Given the description of an element on the screen output the (x, y) to click on. 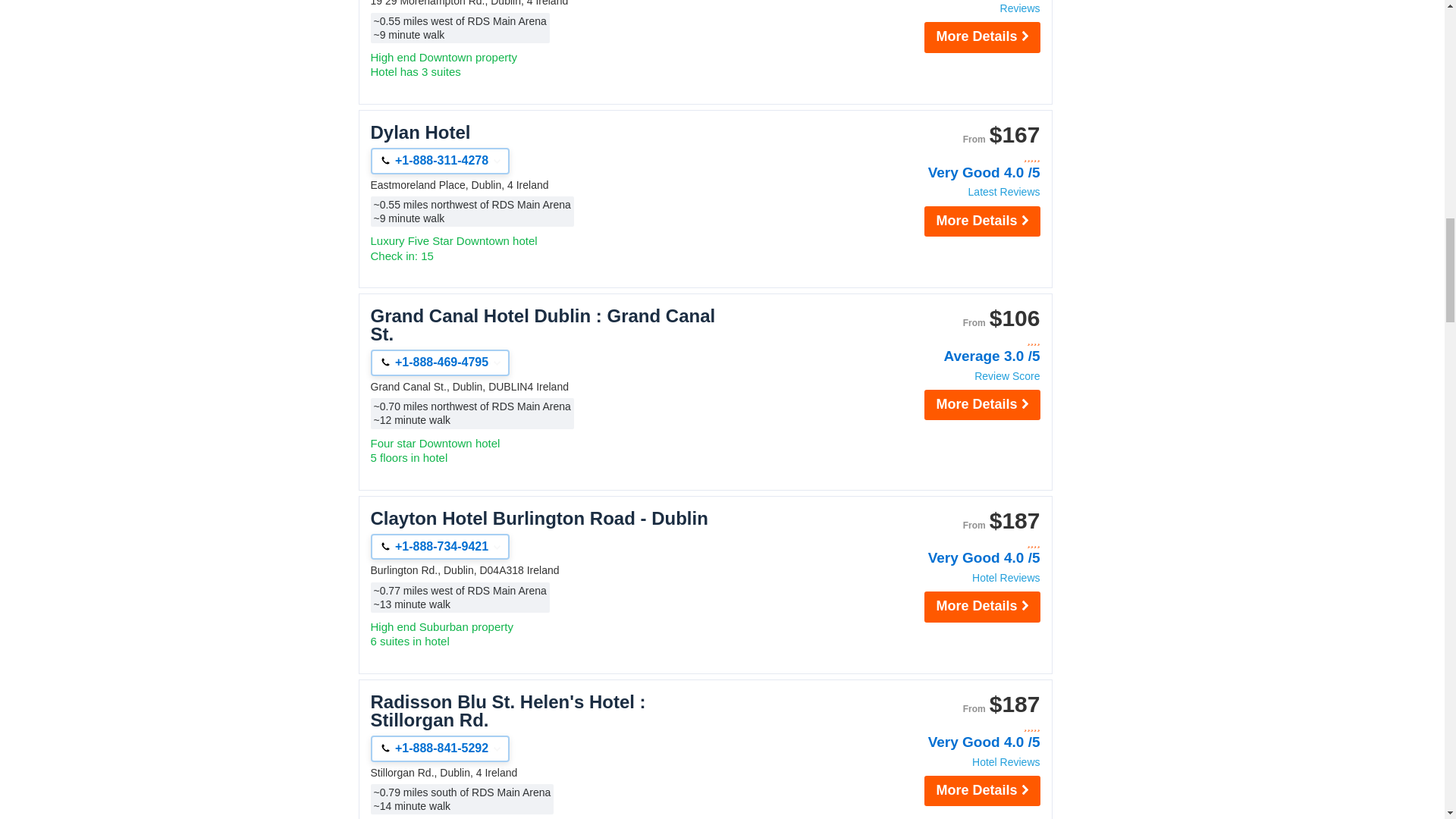
4 stars (958, 340)
4 stars (958, 543)
5 stars (958, 726)
5 stars (958, 156)
